Given the description of an element on the screen output the (x, y) to click on. 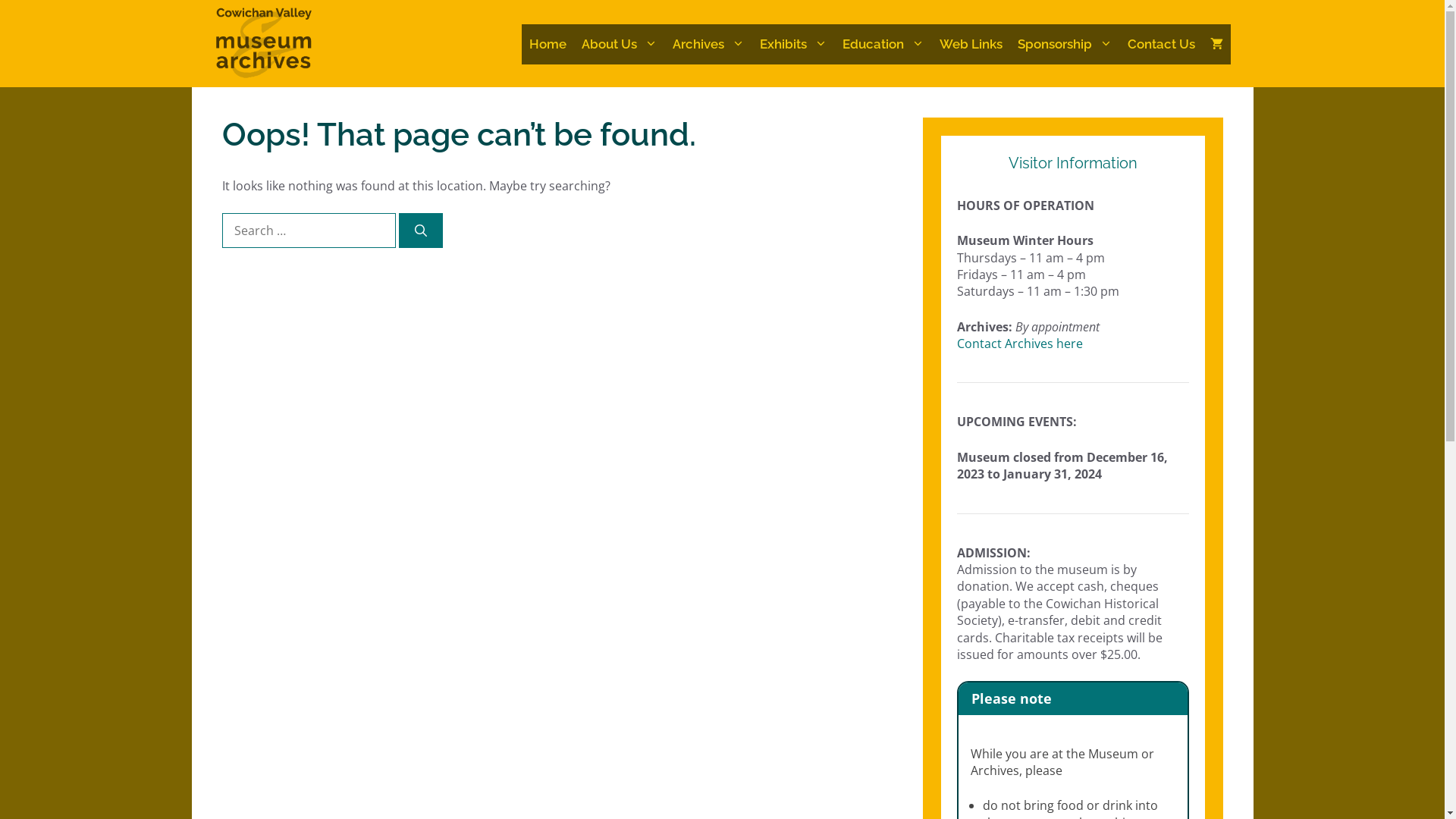
About Us Element type: text (618, 44)
Home Element type: text (547, 44)
Contact Us Element type: text (1160, 44)
Education Element type: text (882, 44)
Sponsorship Element type: text (1065, 44)
Web Links Element type: text (970, 44)
Archives Element type: text (707, 44)
View your shopping cart Element type: hover (1216, 44)
Exhibits Element type: text (793, 44)
Search for: Element type: hover (308, 230)
Contact Archives here Element type: text (1019, 343)
